Given the description of an element on the screen output the (x, y) to click on. 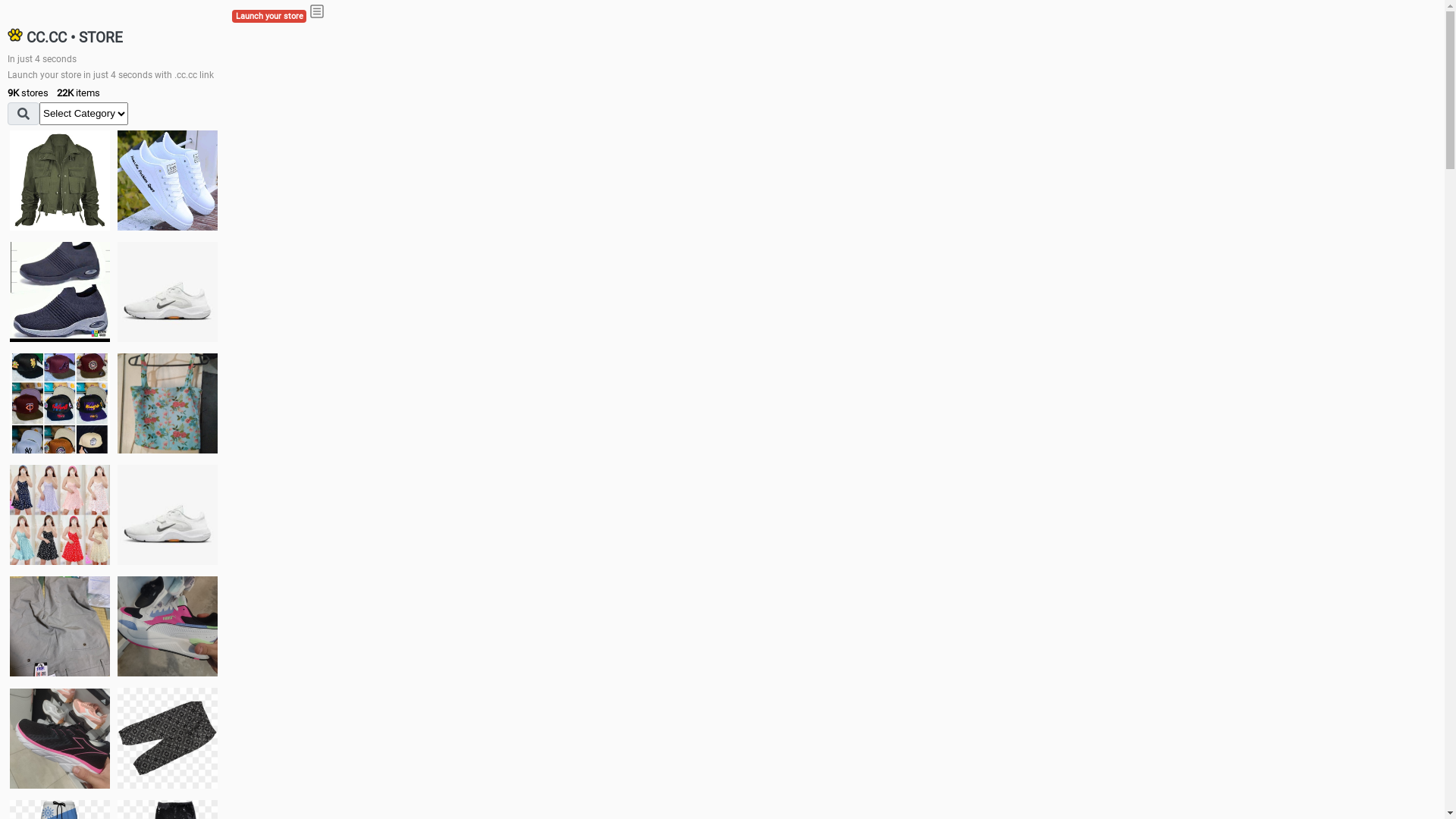
Things we need Element type: hover (59, 403)
Zapatillas pumas Element type: hover (167, 626)
Zapatillas Element type: hover (59, 738)
Launch your store Element type: text (269, 15)
Ukay cloth Element type: hover (167, 403)
jacket Element type: hover (59, 180)
shoes for boys Element type: hover (59, 291)
Shoes for boys Element type: hover (167, 291)
Dress/square nect top Element type: hover (59, 514)
Shoes Element type: hover (167, 514)
Short pant Element type: hover (167, 737)
white shoes Element type: hover (167, 180)
